Given the description of an element on the screen output the (x, y) to click on. 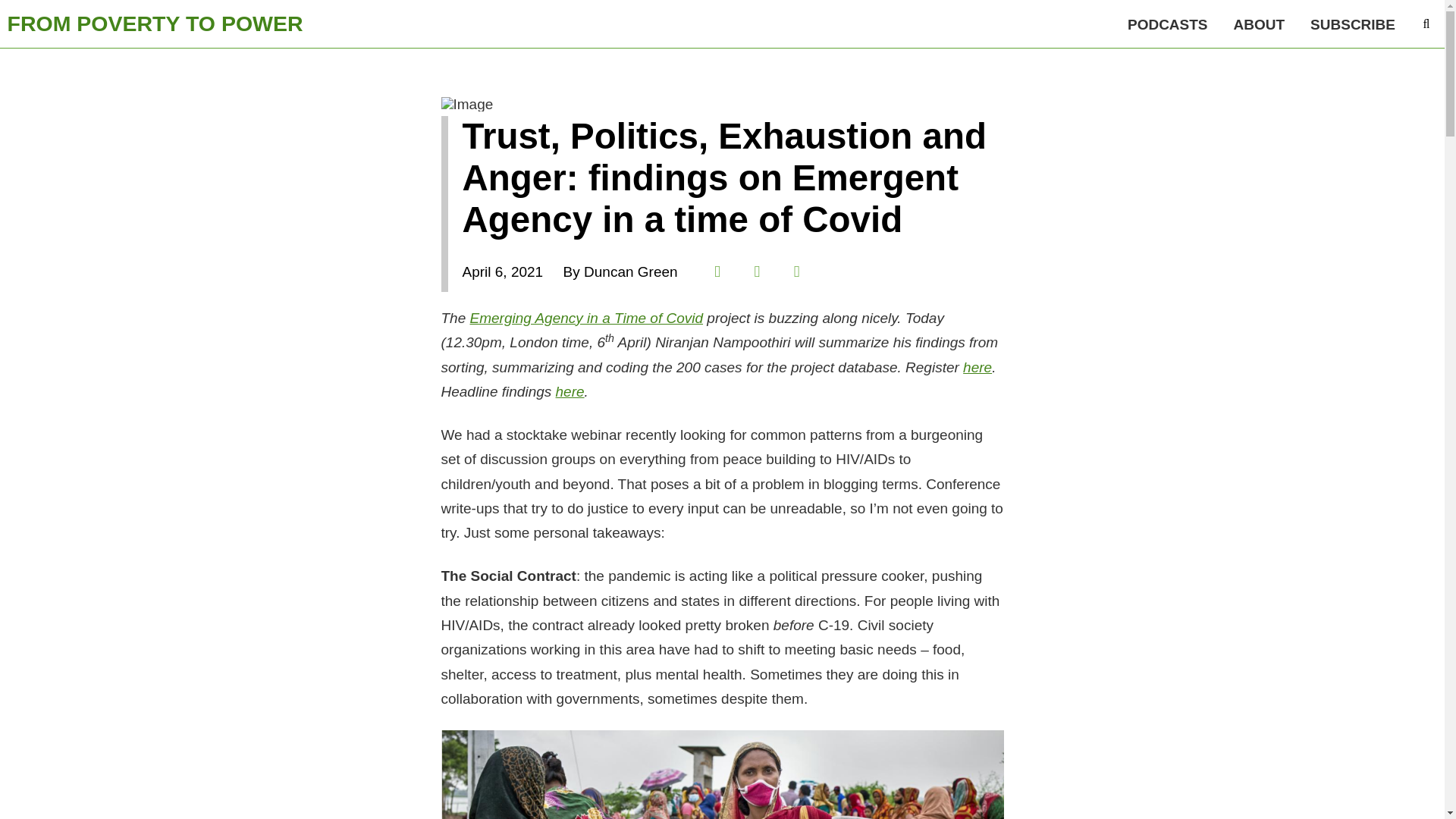
FROM POVERTY TO POWER (154, 23)
SUBSCRIBE (1352, 24)
here (976, 367)
ABOUT (1259, 24)
Emerging Agency in a Time of Covid (586, 317)
PODCASTS (1168, 24)
here (570, 391)
